Given the description of an element on the screen output the (x, y) to click on. 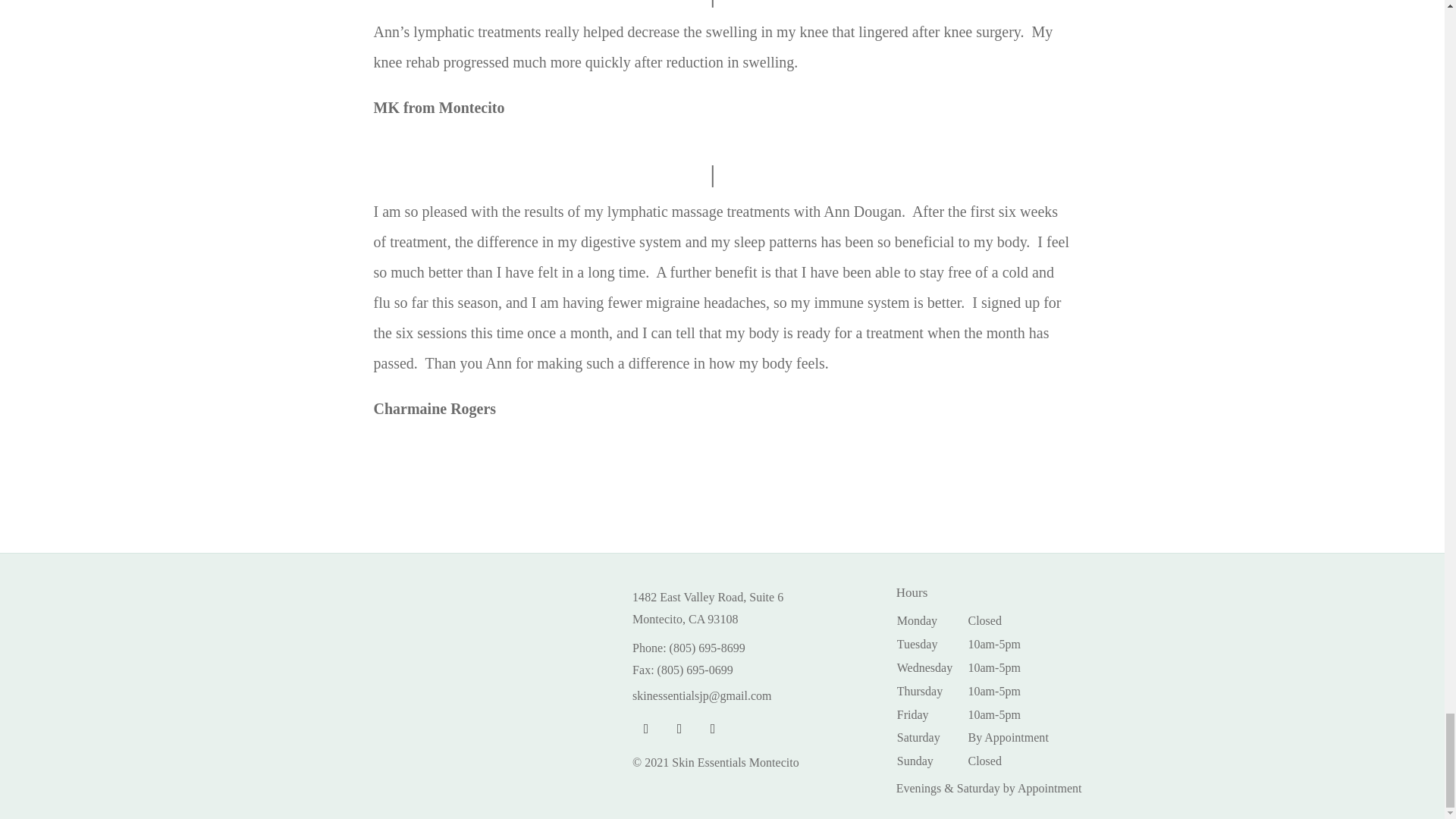
Follow on Facebook (645, 728)
Follow on Youtube (712, 728)
Follow on Instagram (679, 728)
